Given the description of an element on the screen output the (x, y) to click on. 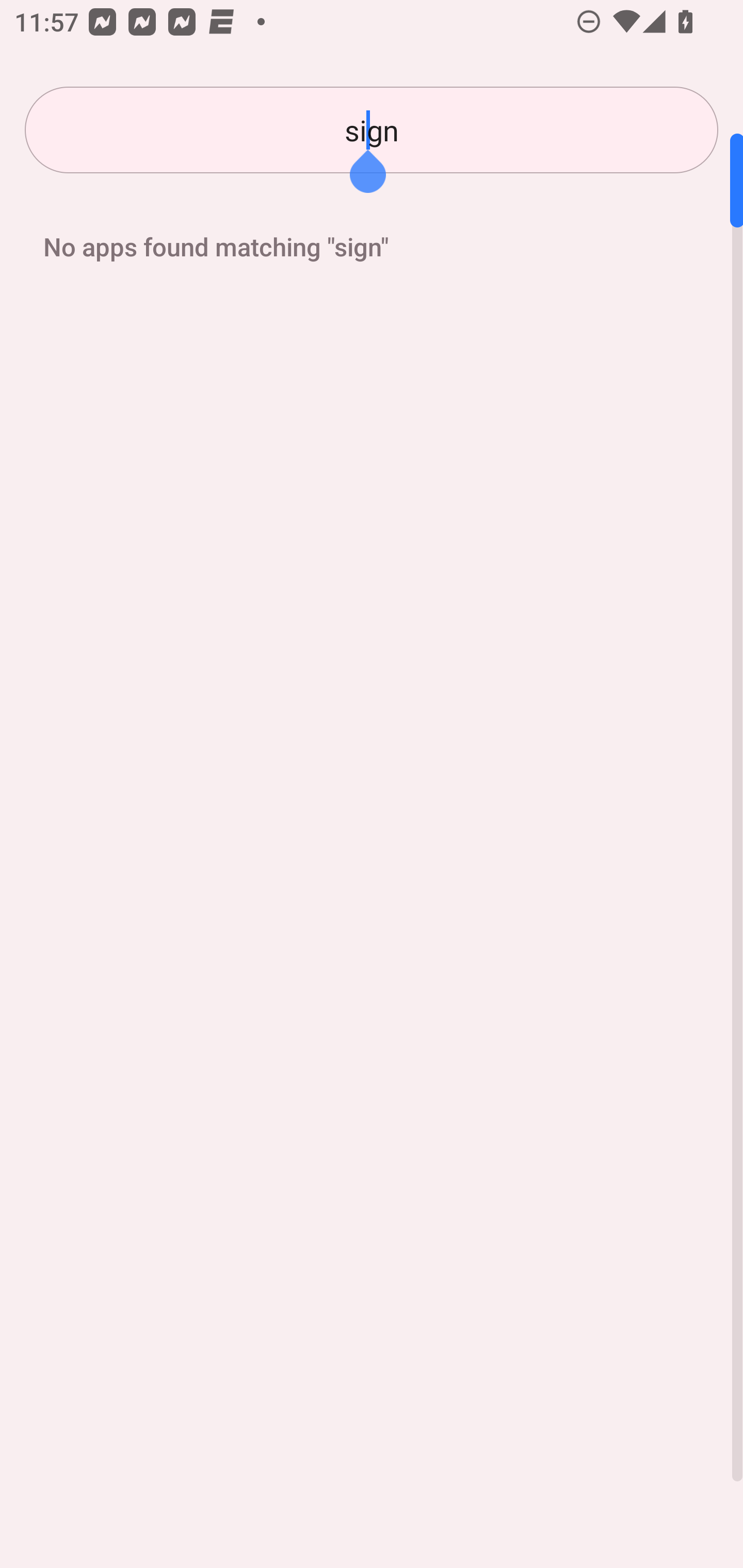
sign (371, 130)
